Given the description of an element on the screen output the (x, y) to click on. 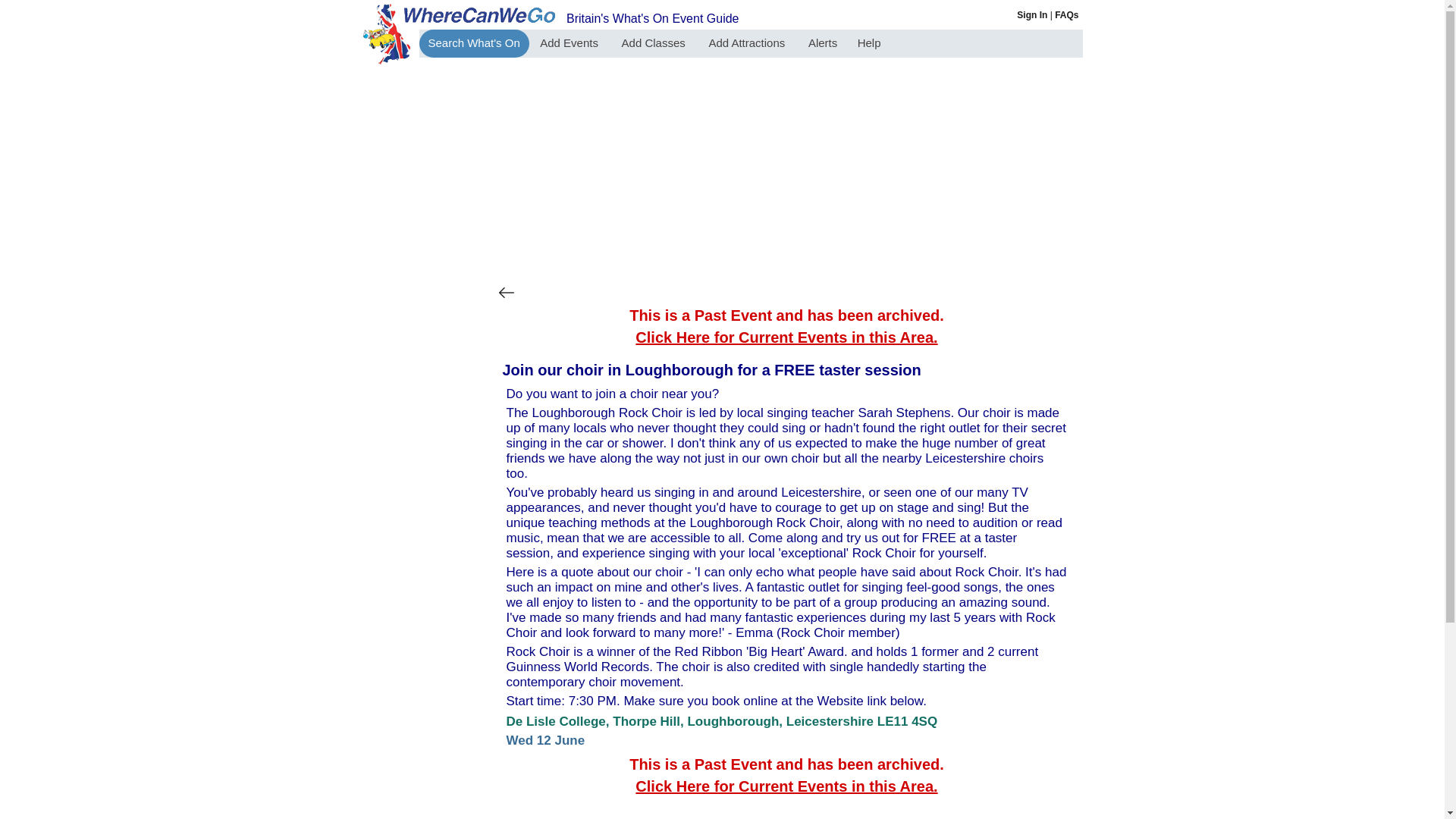
Add Attractions  (747, 43)
Add your own events to our what's on database (570, 43)
Add Events  (570, 43)
Add Classes  (654, 43)
Click Here for Current Events in this Area. (785, 786)
Click Here for Current Events in this Area. (785, 337)
Search What's On (473, 43)
Advertisement (787, 171)
Organiser's Sign In (1031, 14)
Add regular classes to our listings. (654, 43)
Help (868, 43)
WhereCanWeGo - Find great things to do - wherever you are (473, 43)
Get Event Alert Emails (822, 43)
Promote Attractions (747, 43)
Help and FAQ's (1066, 14)
